Given the description of an element on the screen output the (x, y) to click on. 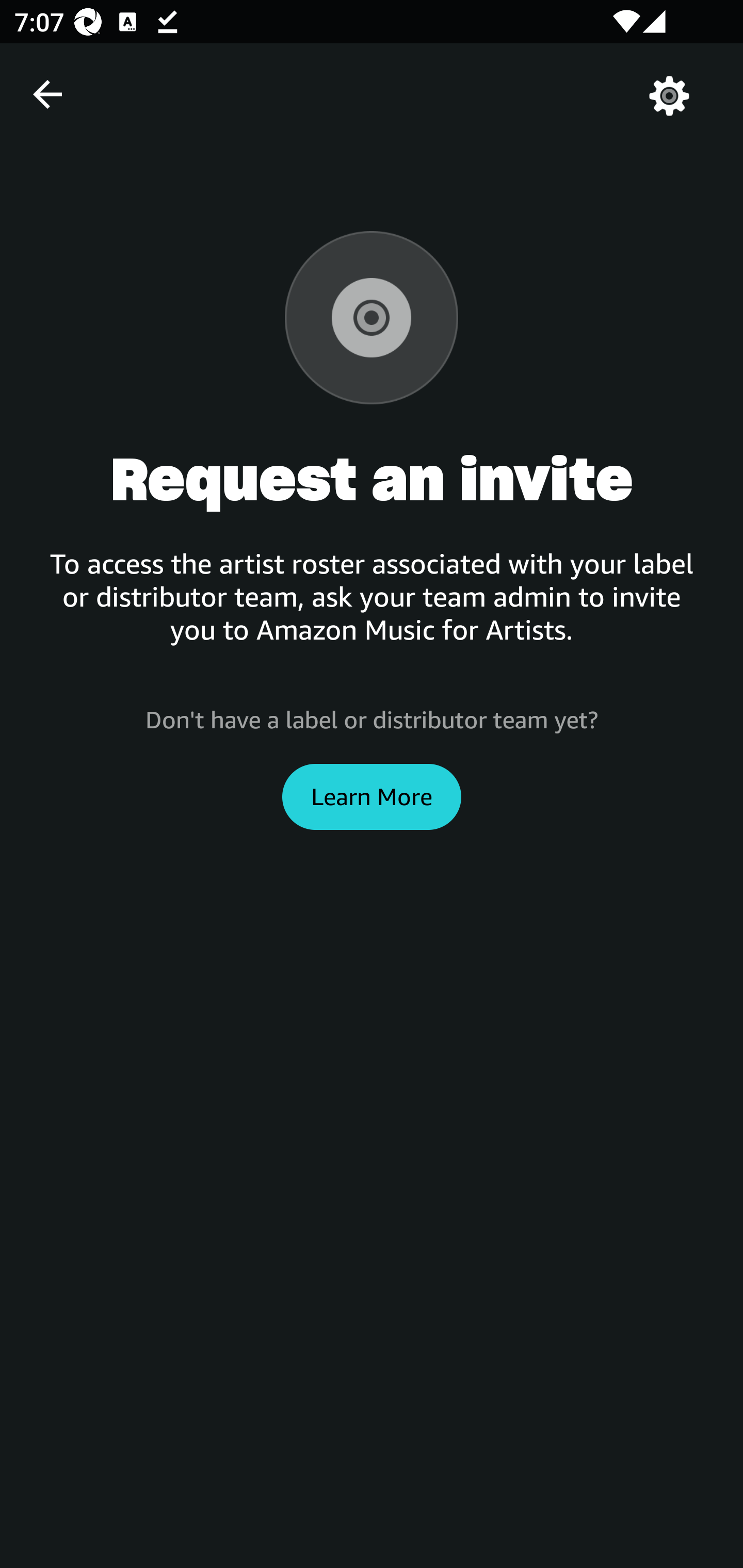
Learn more button Learn More (371, 796)
